Given the description of an element on the screen output the (x, y) to click on. 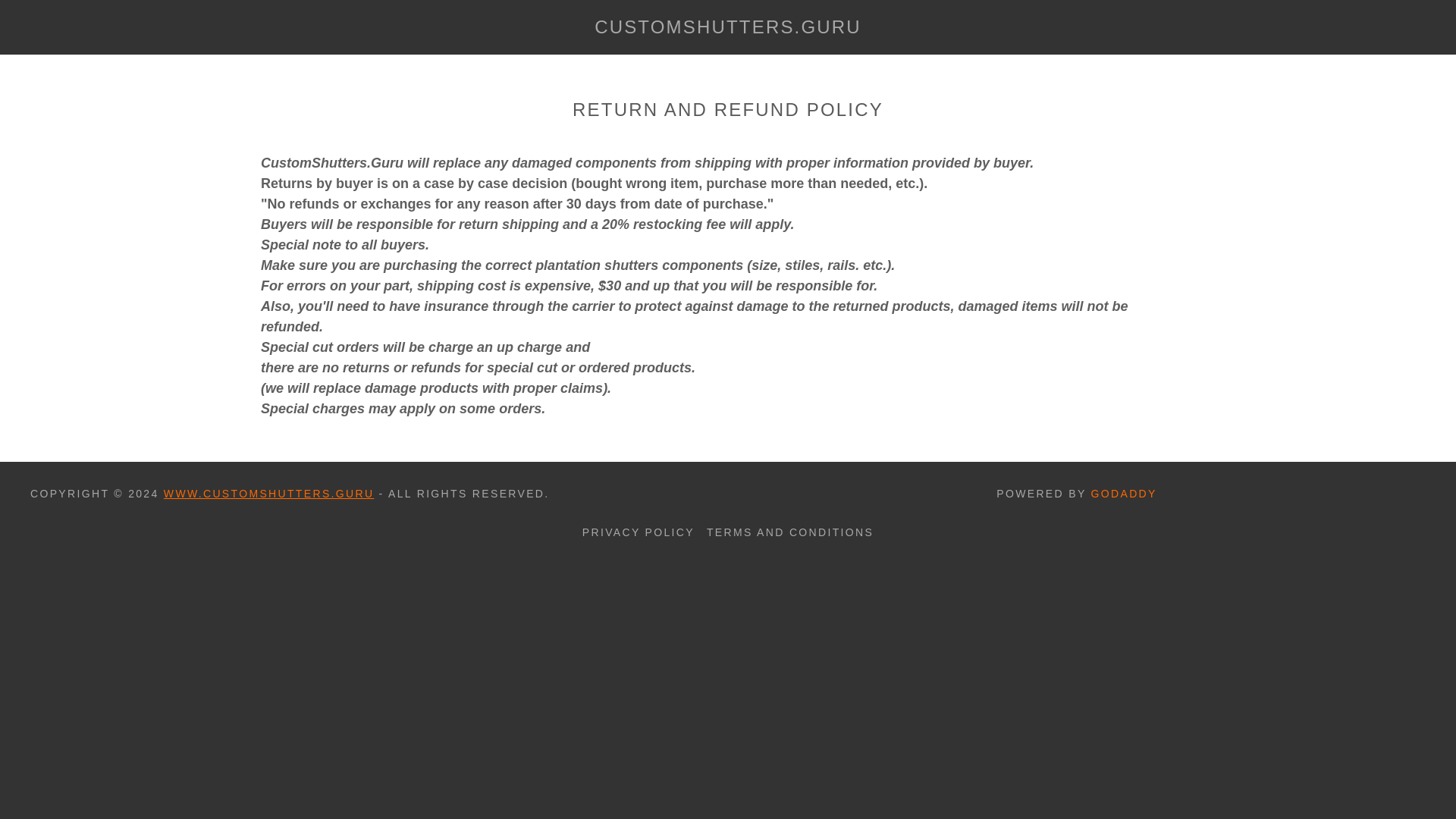
CustomShutters.Guru (727, 28)
CUSTOMSHUTTERS.GURU (727, 28)
